Given the description of an element on the screen output the (x, y) to click on. 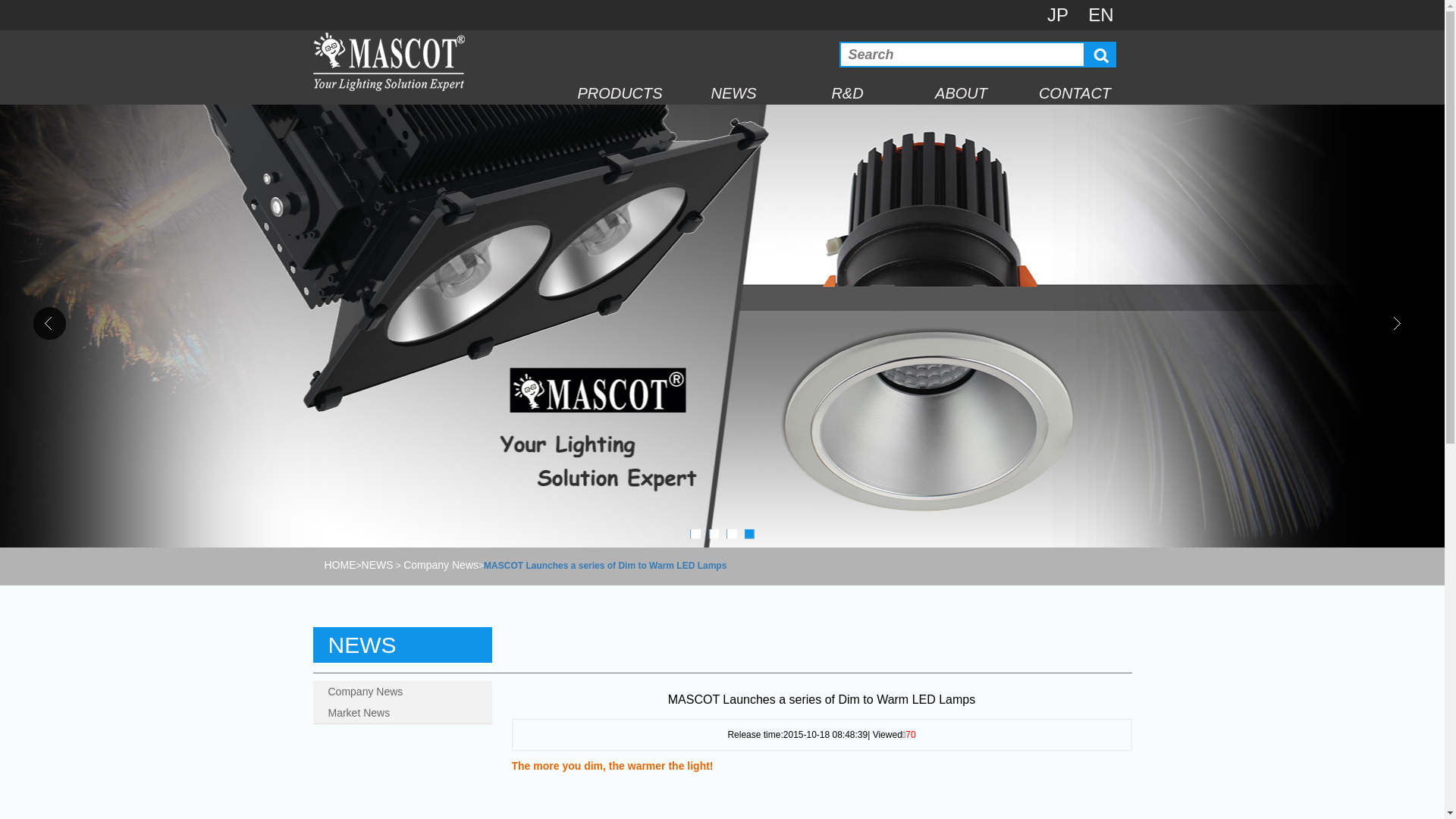
ABOUT Element type: text (960, 92)
Company News Element type: text (399, 691)
NEWS Element type: text (377, 564)
NEWS Element type: text (733, 92)
PRODUCTS Element type: text (619, 92)
2 Element type: text (713, 534)
4 Element type: text (749, 534)
1 Element type: text (695, 534)
3 Element type: text (731, 534)
CONTACT Element type: text (1074, 92)
HOME Element type: text (340, 564)
JP Element type: text (1057, 14)
Company News Element type: text (440, 564)
Market News Element type: text (399, 712)
EN Element type: text (1100, 14)
R&D Element type: text (846, 92)
